Given the description of an element on the screen output the (x, y) to click on. 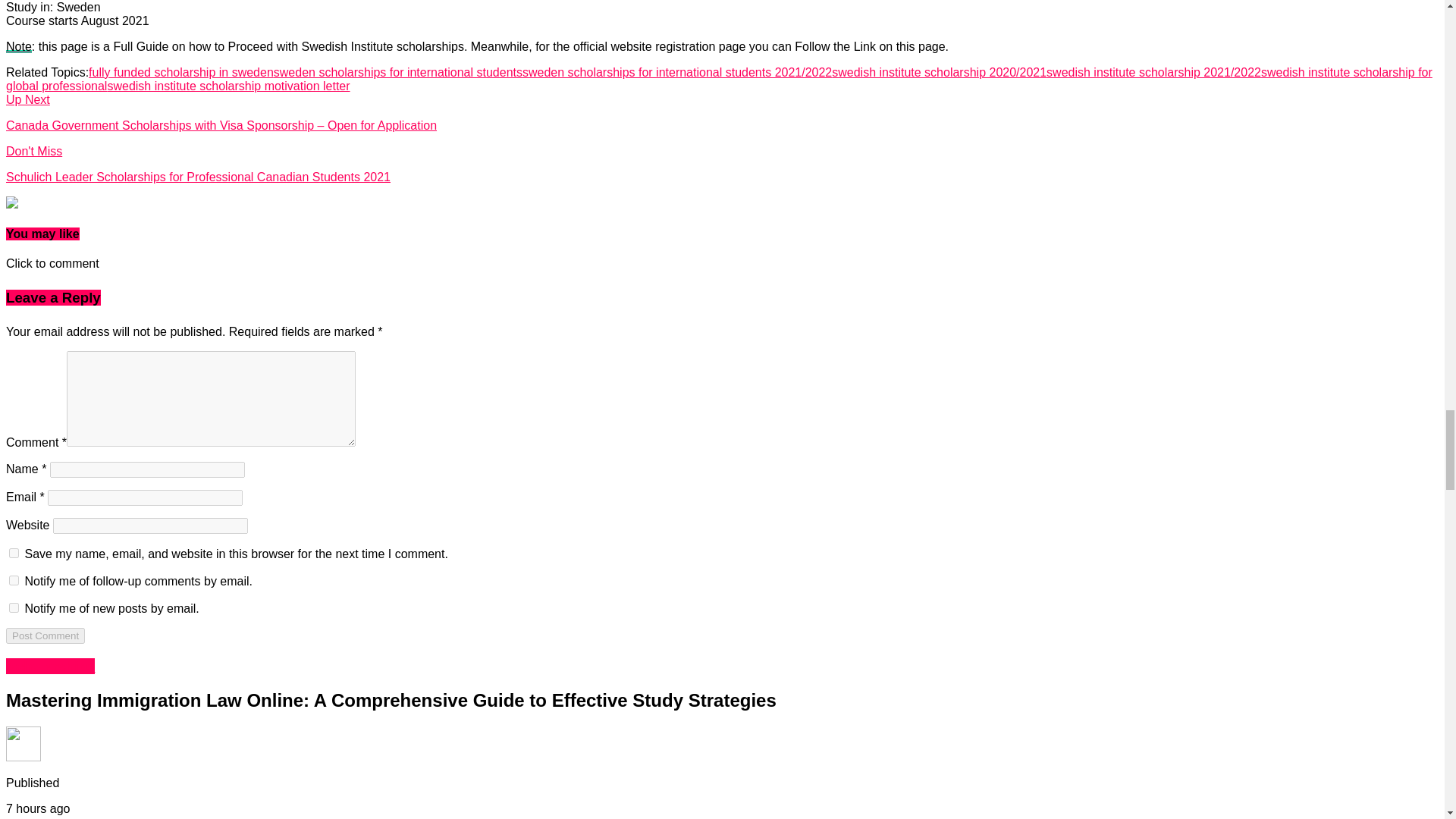
yes (13, 552)
subscribe (13, 607)
subscribe (13, 580)
Post Comment (44, 635)
